Given the description of an element on the screen output the (x, y) to click on. 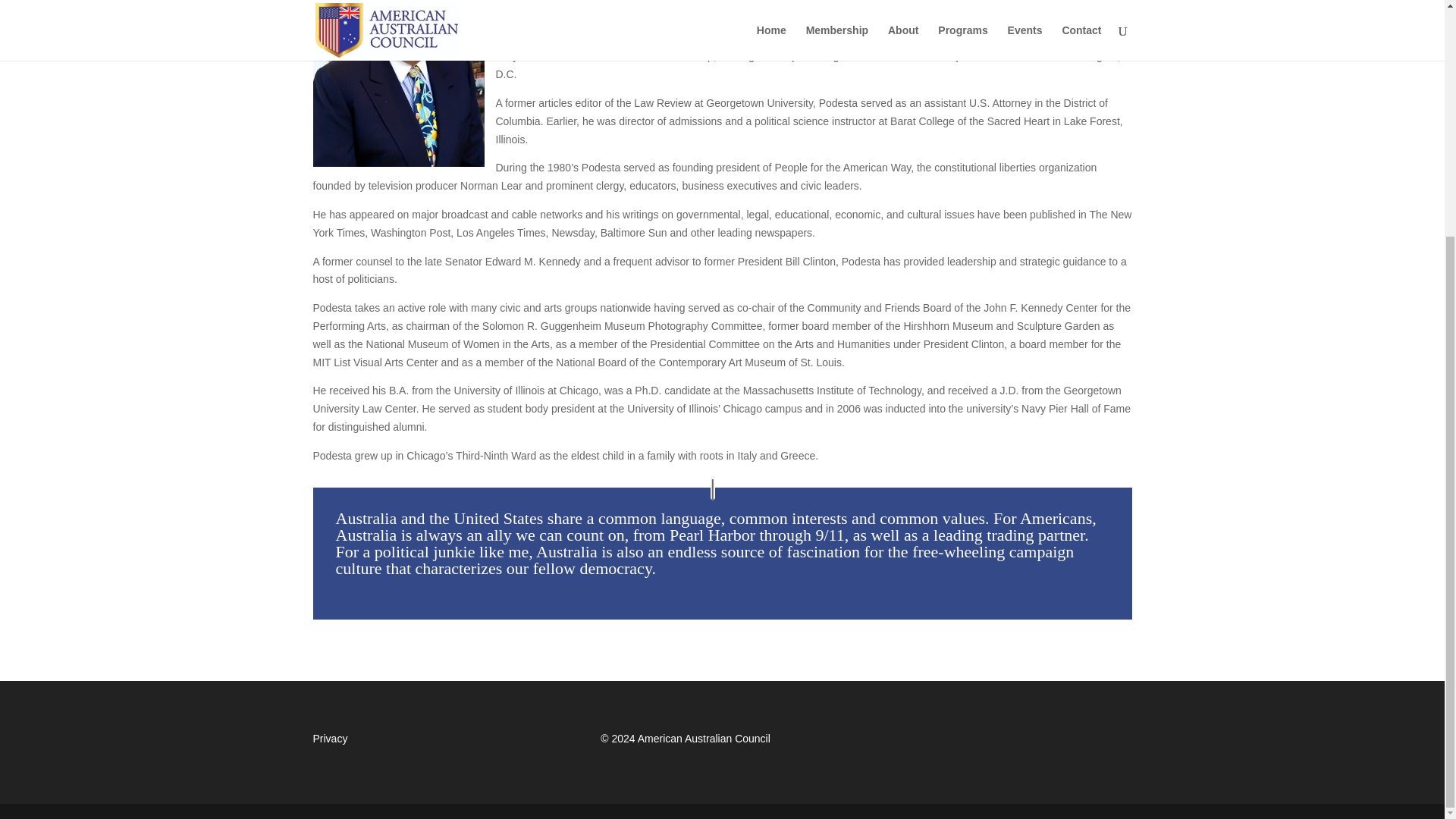
Privacy (330, 738)
